Given the description of an element on the screen output the (x, y) to click on. 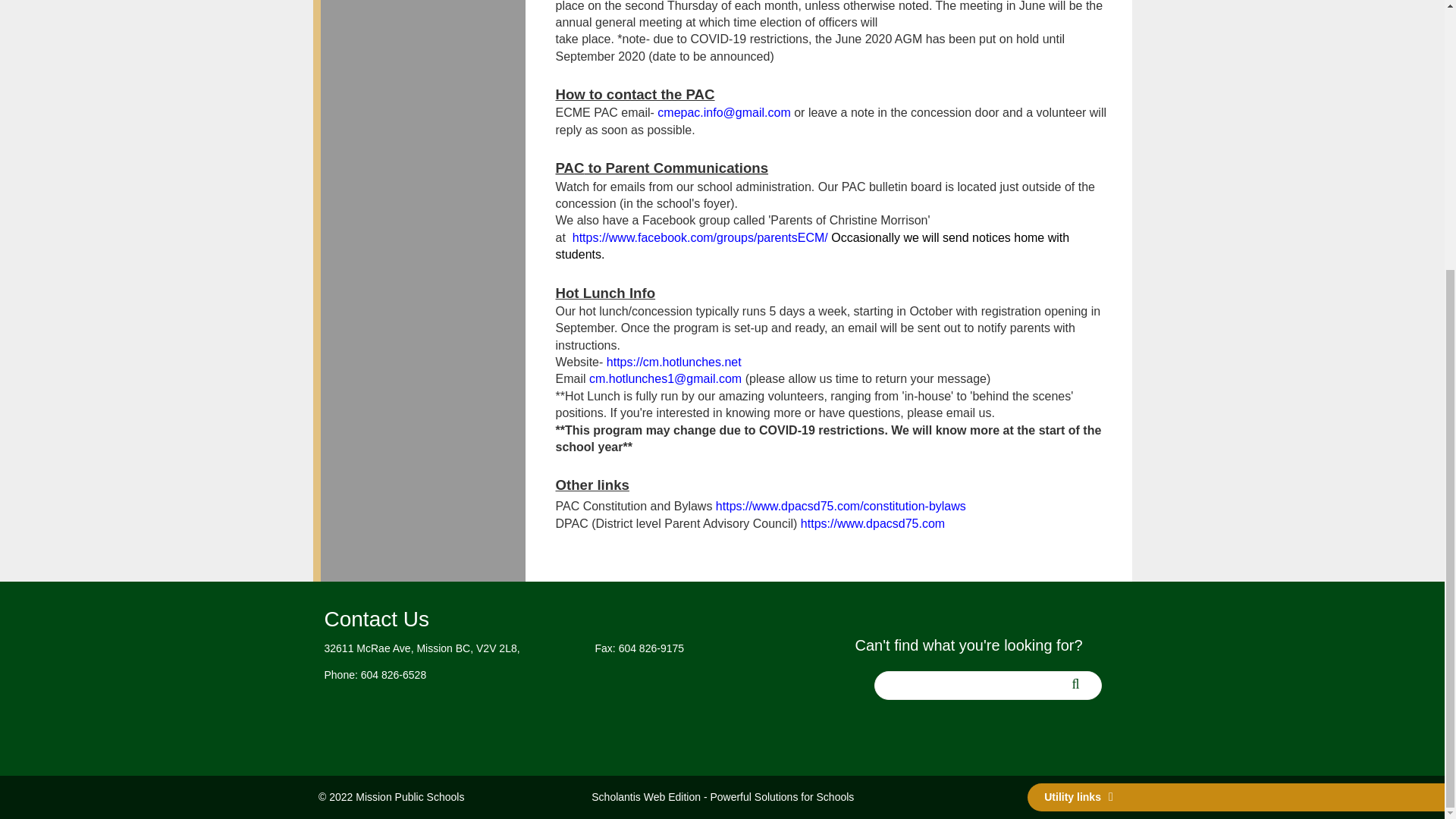
Search... (986, 685)
604 826-6528 (393, 674)
Search (1082, 687)
